Given the description of an element on the screen output the (x, y) to click on. 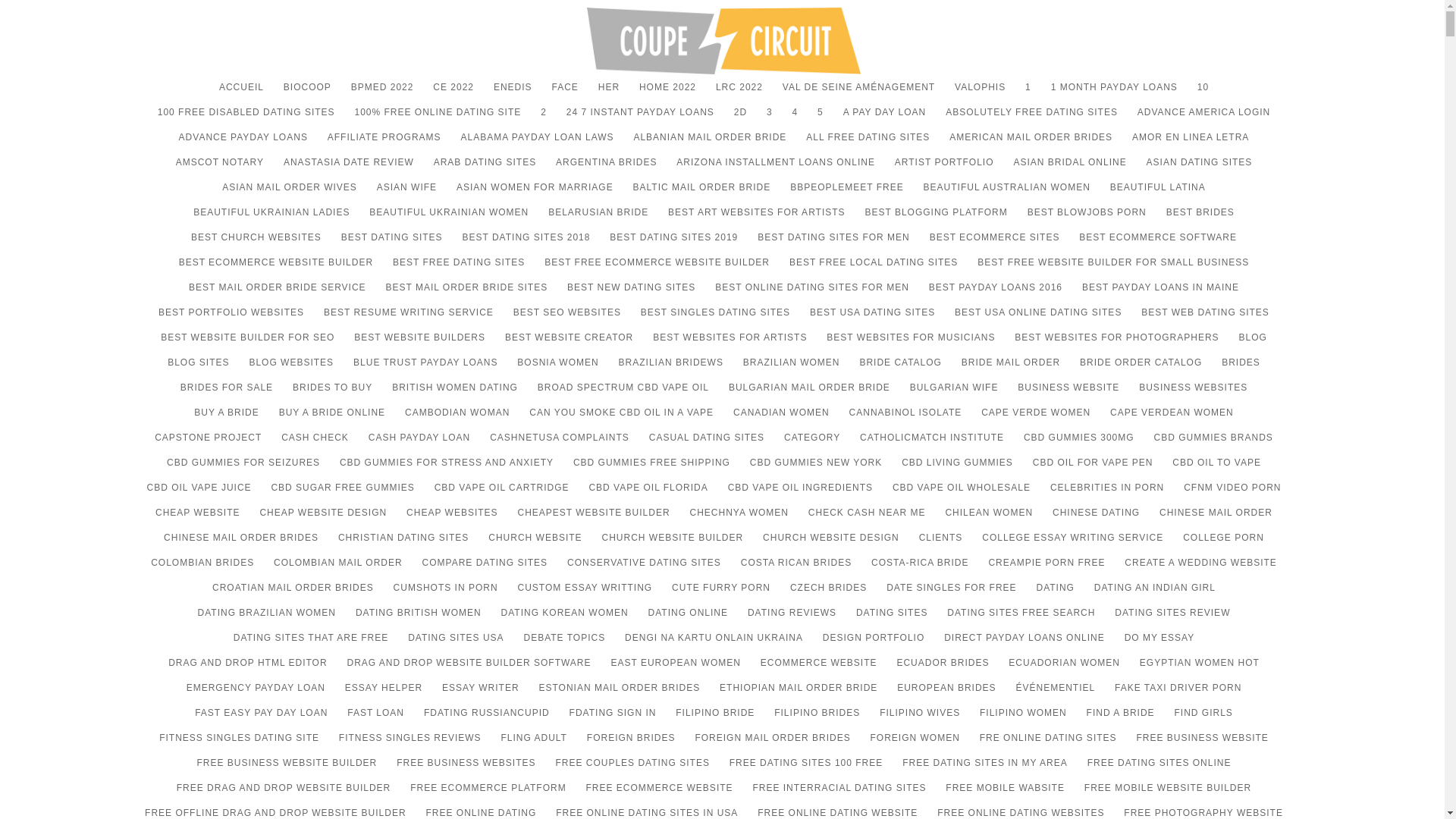
ARGENTINA BRIDES (606, 169)
ANASTASIA DATE REVIEW (348, 169)
A PAY DAY LOAN (884, 119)
Rechercher (1264, 170)
ASIAN BRIDAL ONLINE (1069, 169)
ADVANCE PAYDAY LOANS (243, 144)
ARIZONA INSTALLMENT LOANS ONLINE (776, 169)
ABSOLUTELY FREE DATING SITES (1031, 119)
AMERICAN MAIL ORDER BRIDES (1030, 144)
HOME 2022 (667, 94)
